Given the description of an element on the screen output the (x, y) to click on. 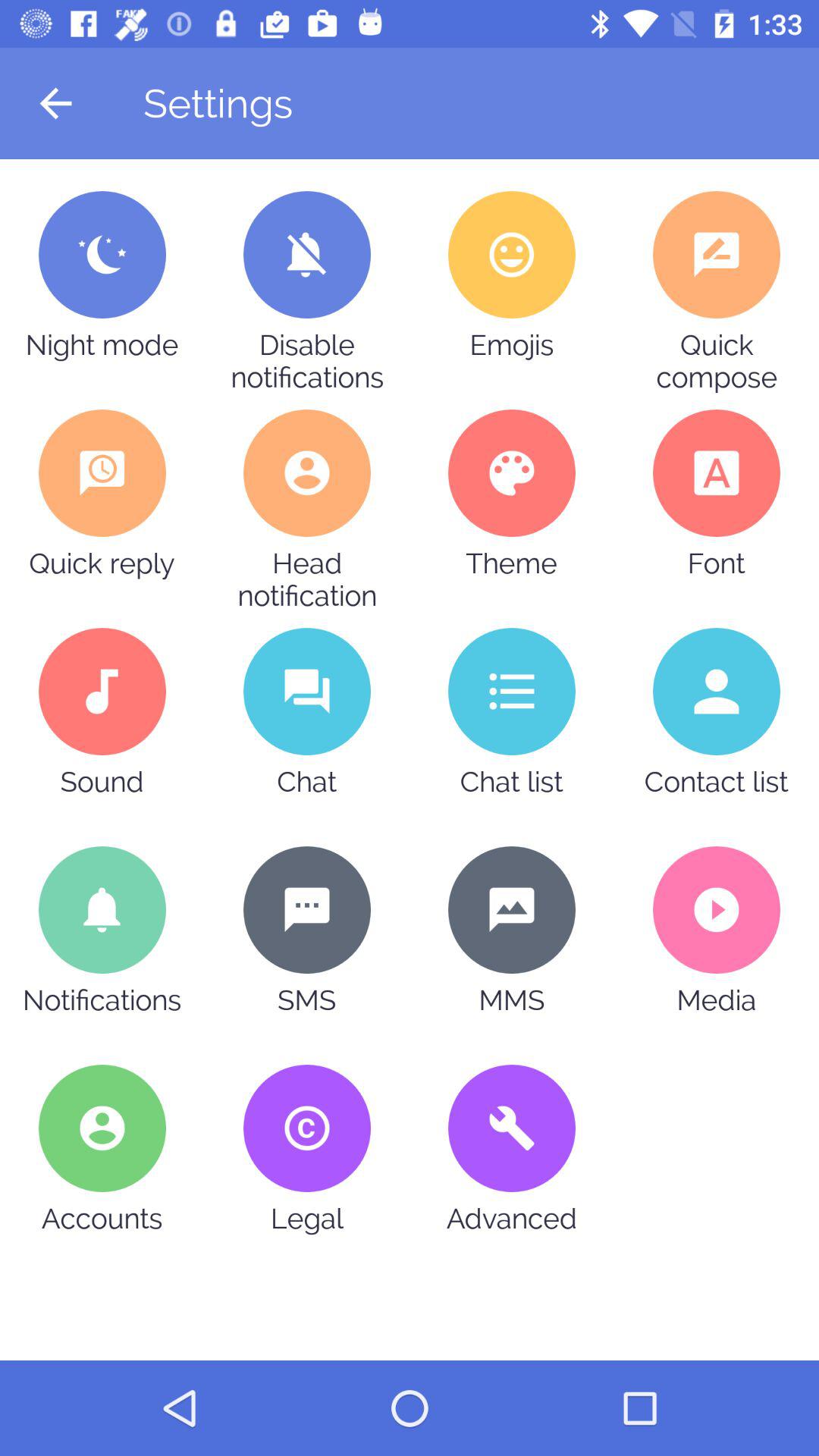
select the icon emojis (511, 254)
click on icon above theme (511, 473)
select the chat option above sms (307, 691)
